Given the description of an element on the screen output the (x, y) to click on. 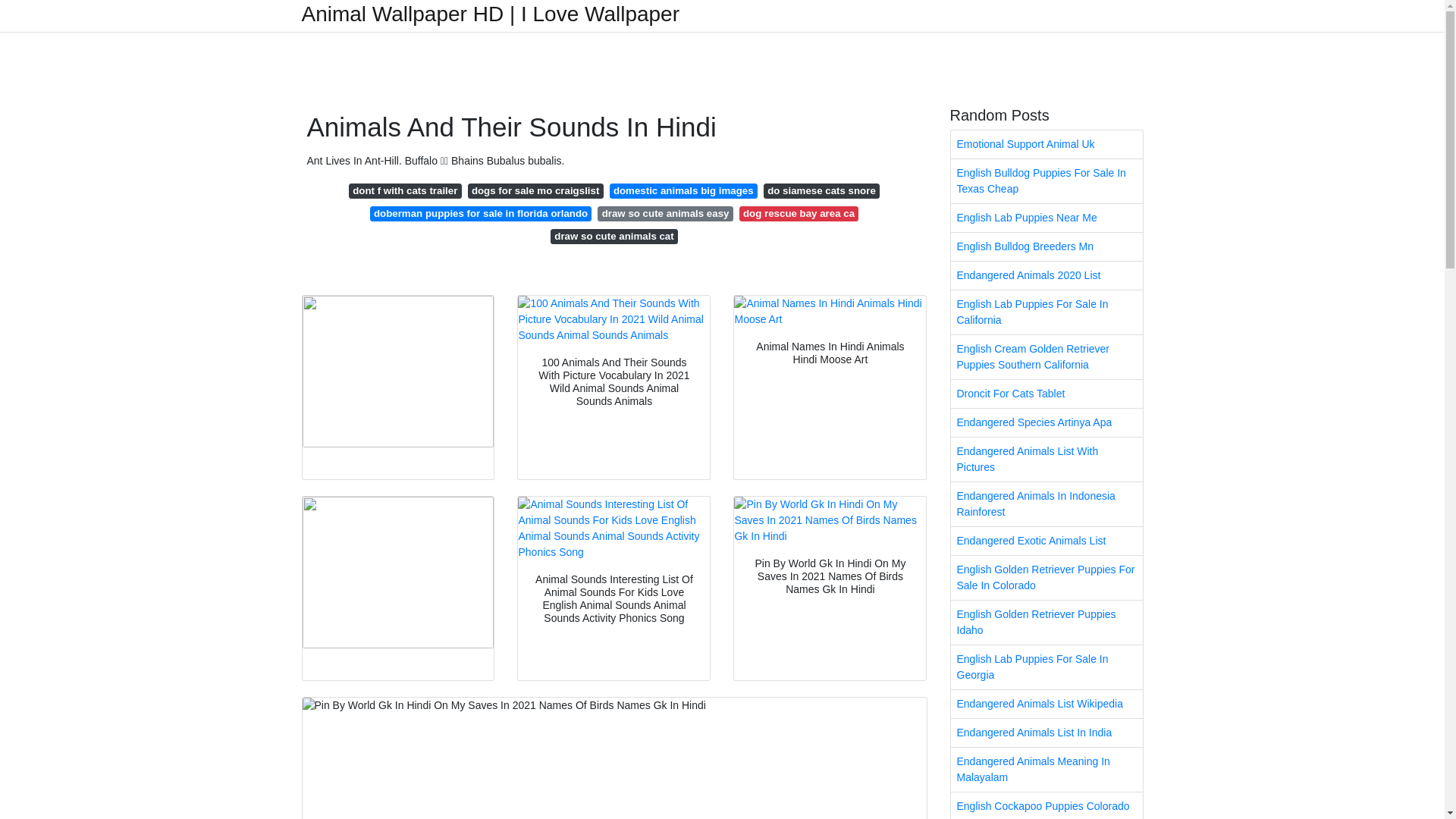
dogs for sale mo craigslist (535, 191)
English Bulldog Puppies For Sale In Texas Cheap (1046, 180)
Emotional Support Animal Uk (1046, 144)
draw so cute animals cat (614, 236)
dont f with cats trailer (405, 191)
Endangered Animals 2020 List (1046, 275)
do siamese cats snore (820, 191)
draw so cute animals easy (664, 213)
English Lab Puppies For Sale In California (1046, 312)
doberman puppies for sale in florida orlando (480, 213)
